Given the description of an element on the screen output the (x, y) to click on. 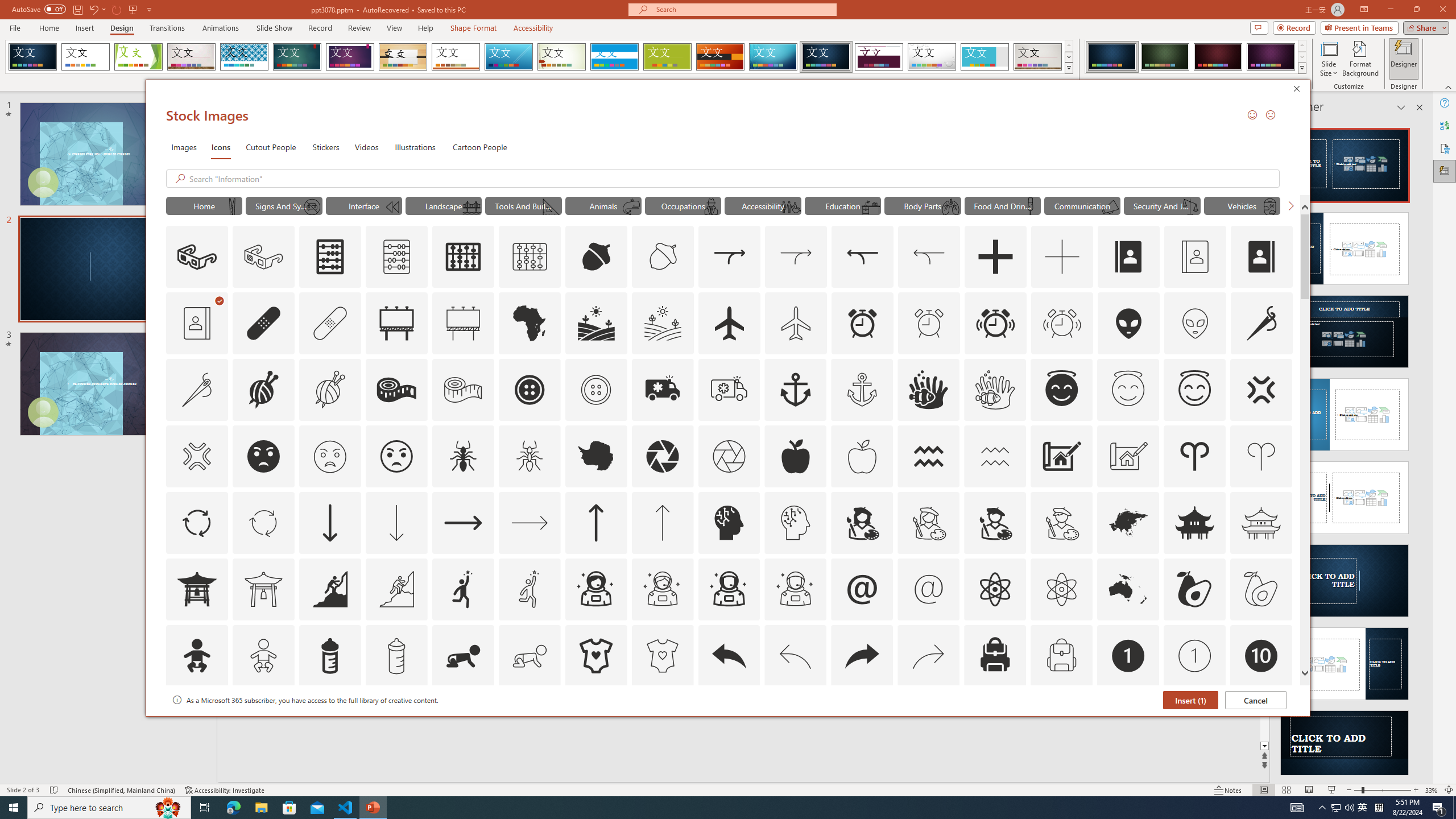
Images (183, 146)
AutomationID: Icons_Acquisition_RTL (863, 256)
AutomationID: Icons_AnemoneAndClownfish (928, 389)
AutomationID: Icons_Add (995, 256)
